Given the description of an element on the screen output the (x, y) to click on. 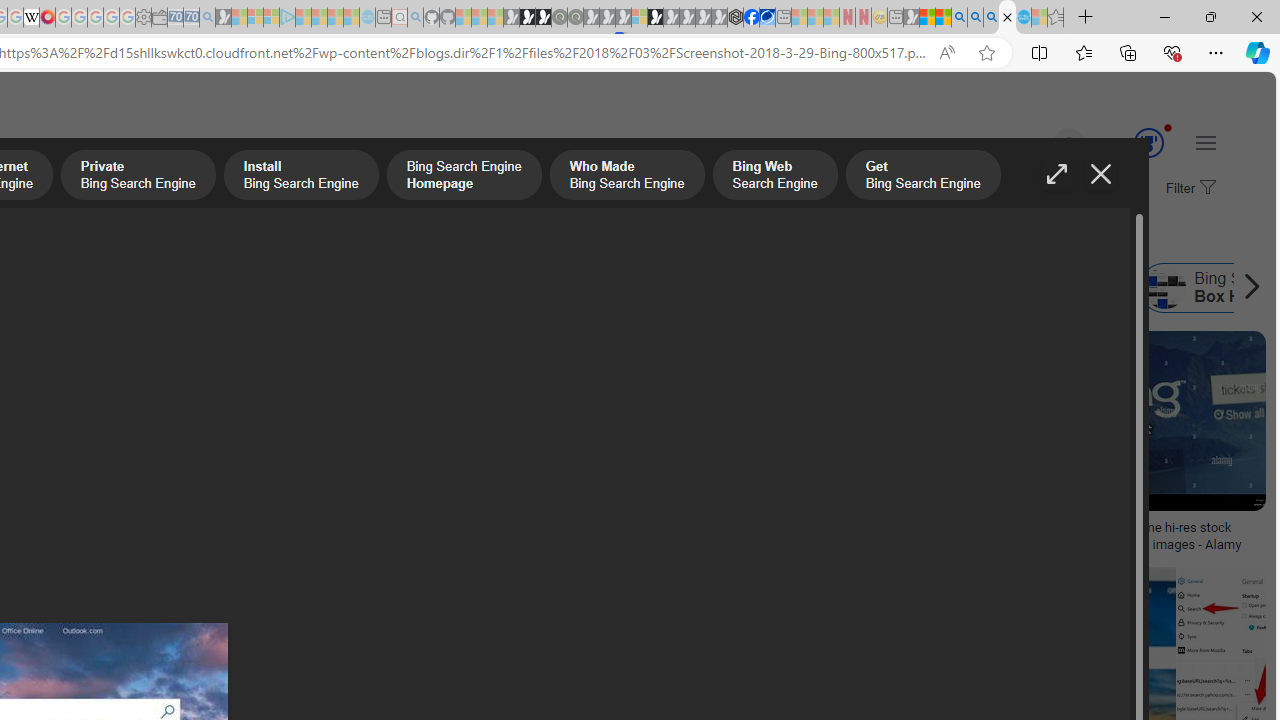
github - Search - Sleeping (415, 17)
Microsoft account | Privacy - Sleeping (271, 17)
Microsoft Start - Sleeping (335, 17)
Bing Web Search Engine (774, 177)
2009 Bing officially replaced Live Search on June 3 - Search (975, 17)
Image result for Bing Search Site (1221, 611)
Bing Web (881, 287)
Bing Search Engine Homepage (658, 287)
Old Bing (347, 287)
